Given the description of an element on the screen output the (x, y) to click on. 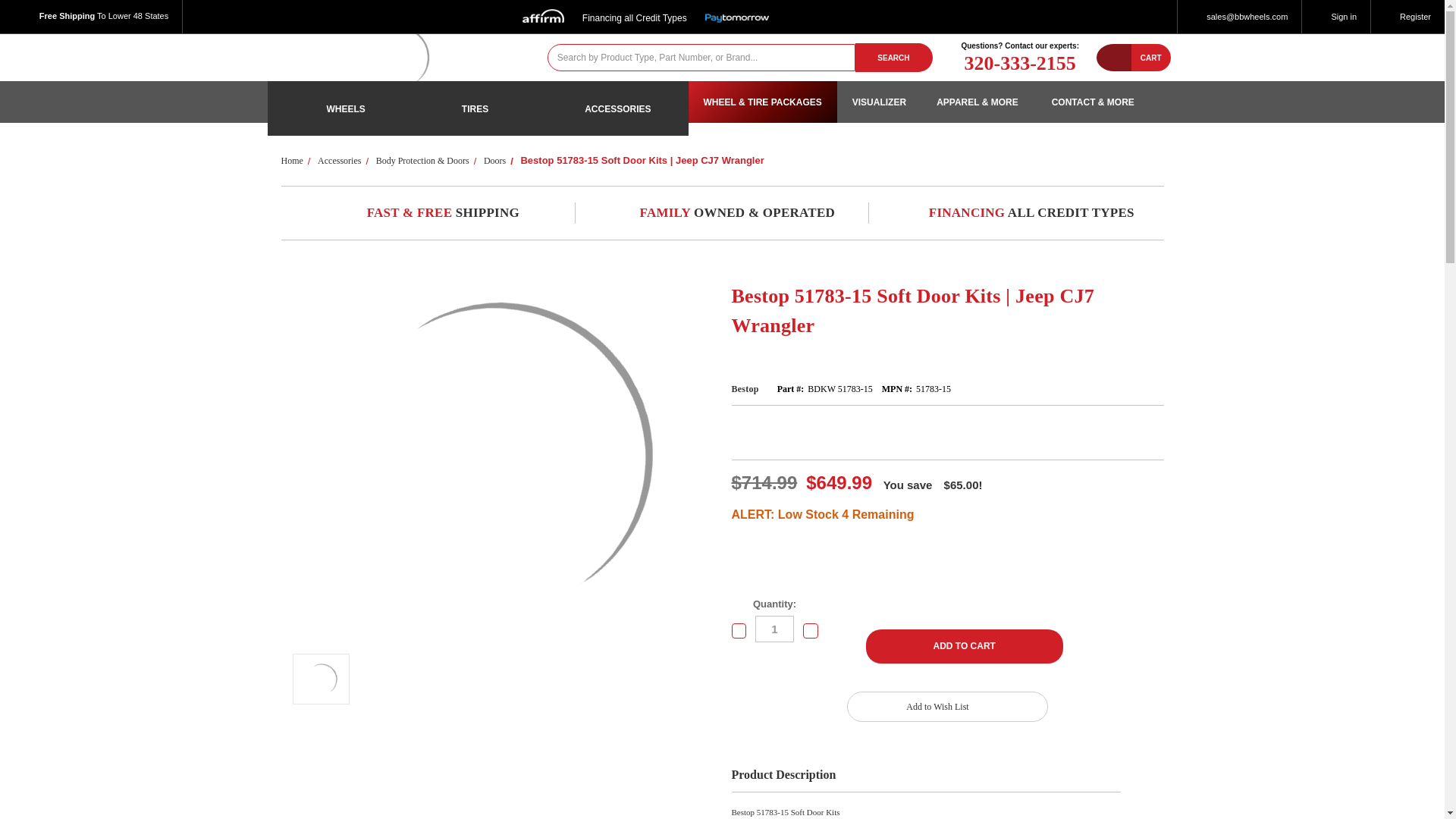
Search (894, 57)
WHEELS (333, 108)
320-333-2155 (1019, 63)
1 (774, 628)
Sign in (1335, 16)
CART (1150, 57)
Free Shipping To Lower 48 States (91, 16)
Add to Cart (964, 646)
Search (894, 57)
Financing all Credit Types (645, 13)
